Given the description of an element on the screen output the (x, y) to click on. 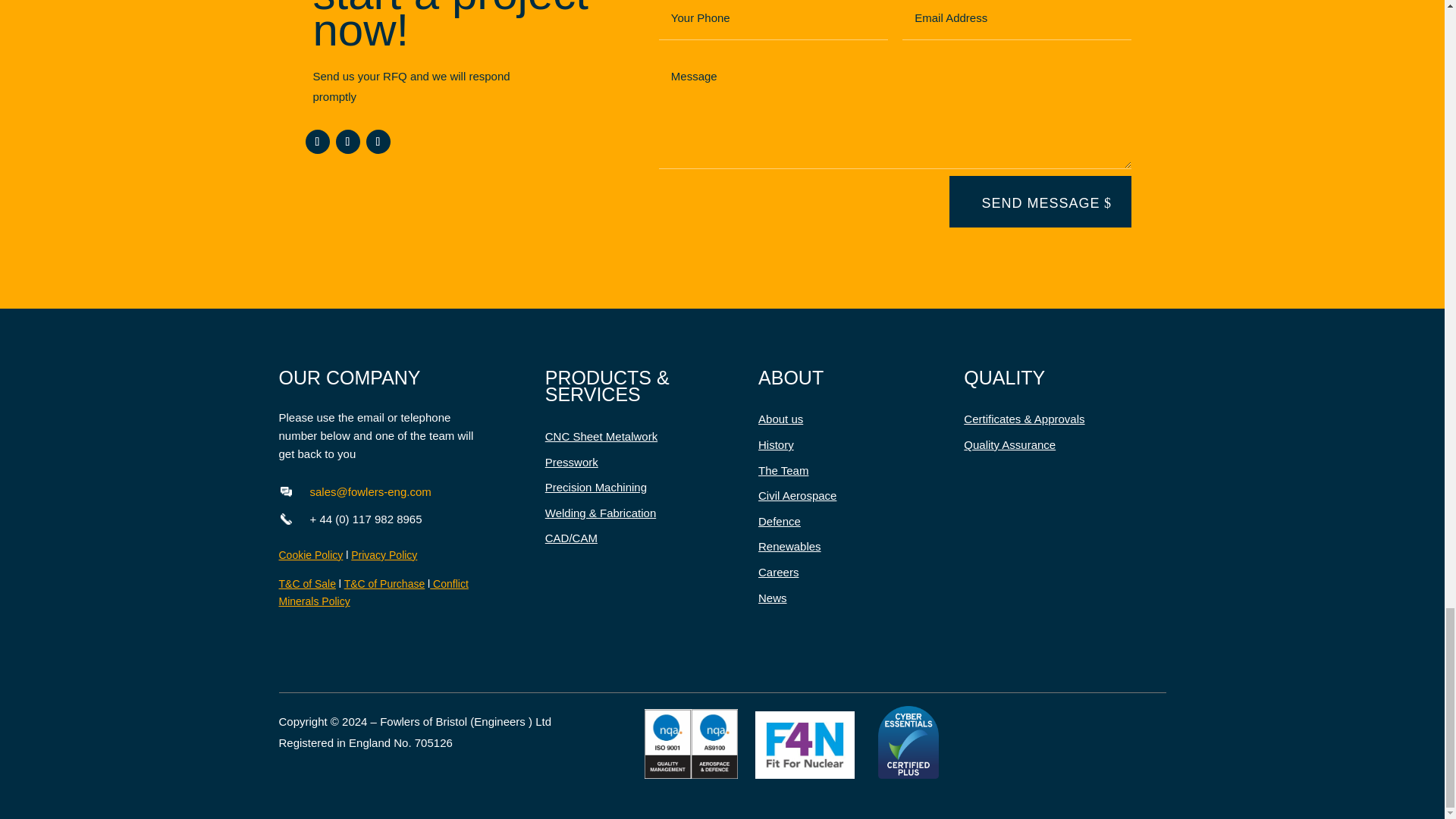
Follow on LinkedIn (316, 141)
Follow on Instagram (377, 141)
Follow on X (346, 141)
